Given the description of an element on the screen output the (x, y) to click on. 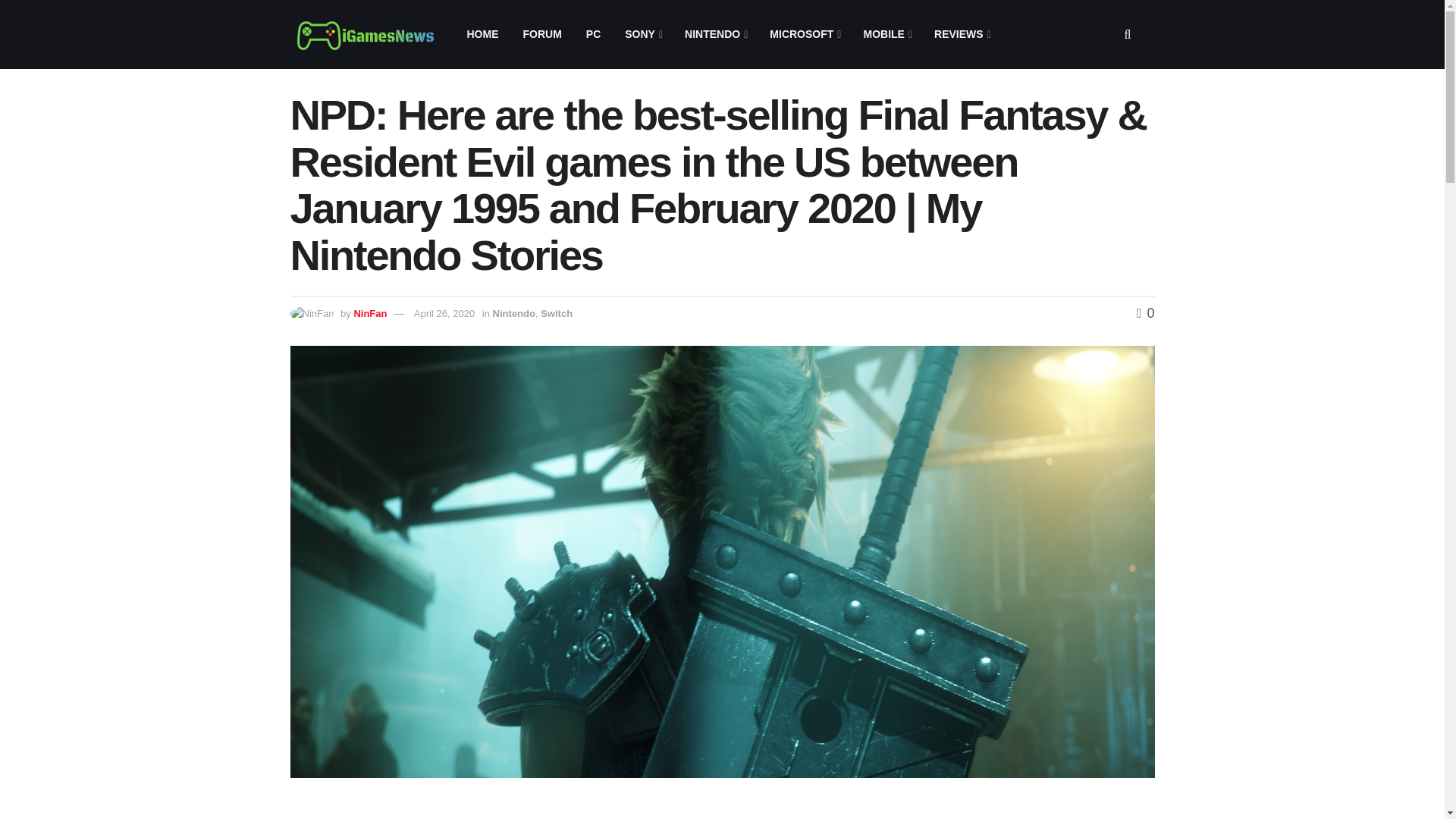
REVIEWS (961, 34)
Advertisement (574, 809)
FORUM (542, 34)
NINTENDO (714, 34)
Advertisement (1023, 809)
NinFan (370, 313)
MOBILE (885, 34)
MICROSOFT (803, 34)
